Given the description of an element on the screen output the (x, y) to click on. 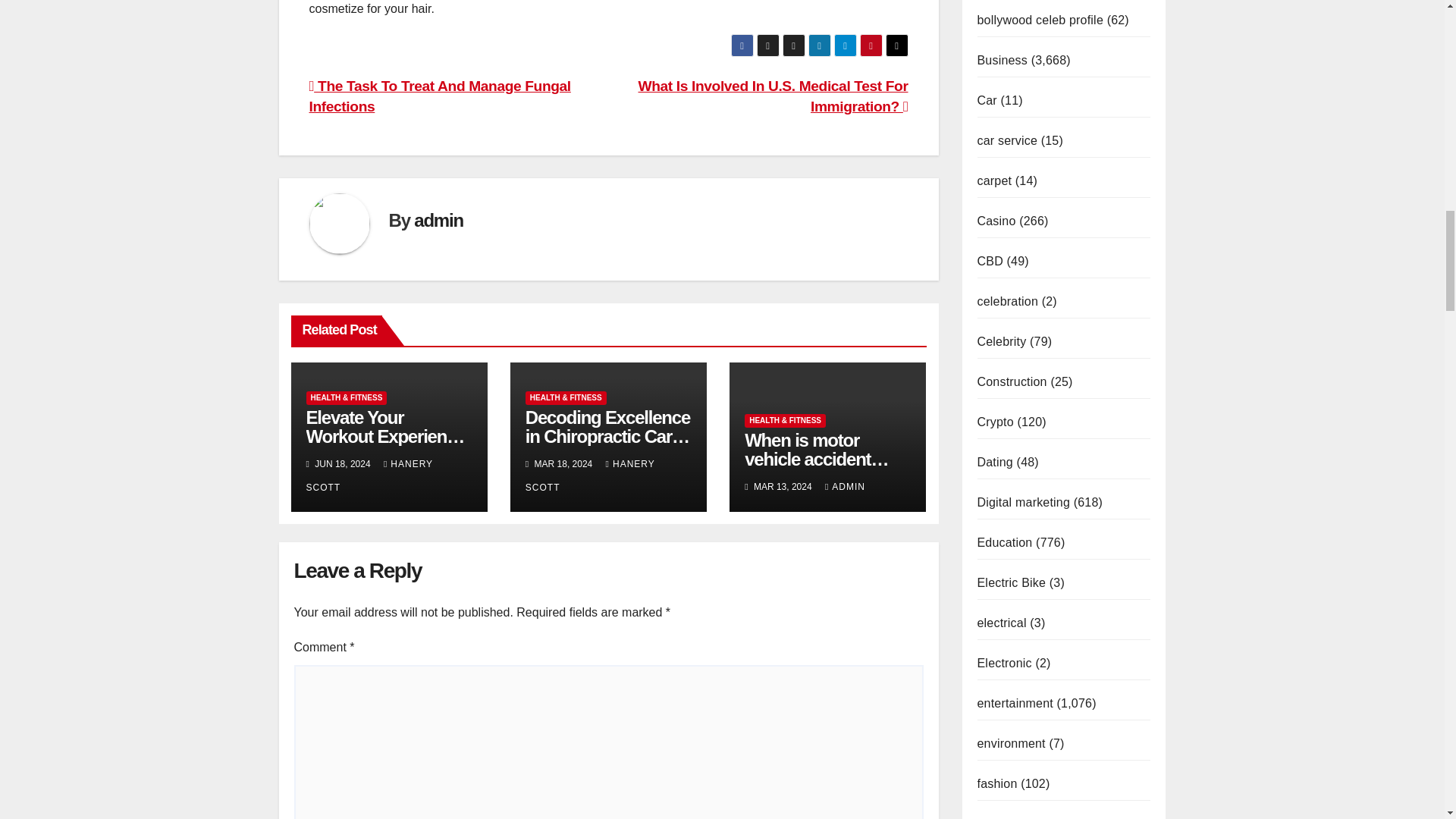
What Is Involved In U.S. Medical Test For Immigration? (773, 95)
HANERY SCOTT (368, 475)
admin (438, 219)
HANERY SCOTT (590, 475)
The Task To Treat And Manage Fungal Infections (439, 95)
